Given the description of an element on the screen output the (x, y) to click on. 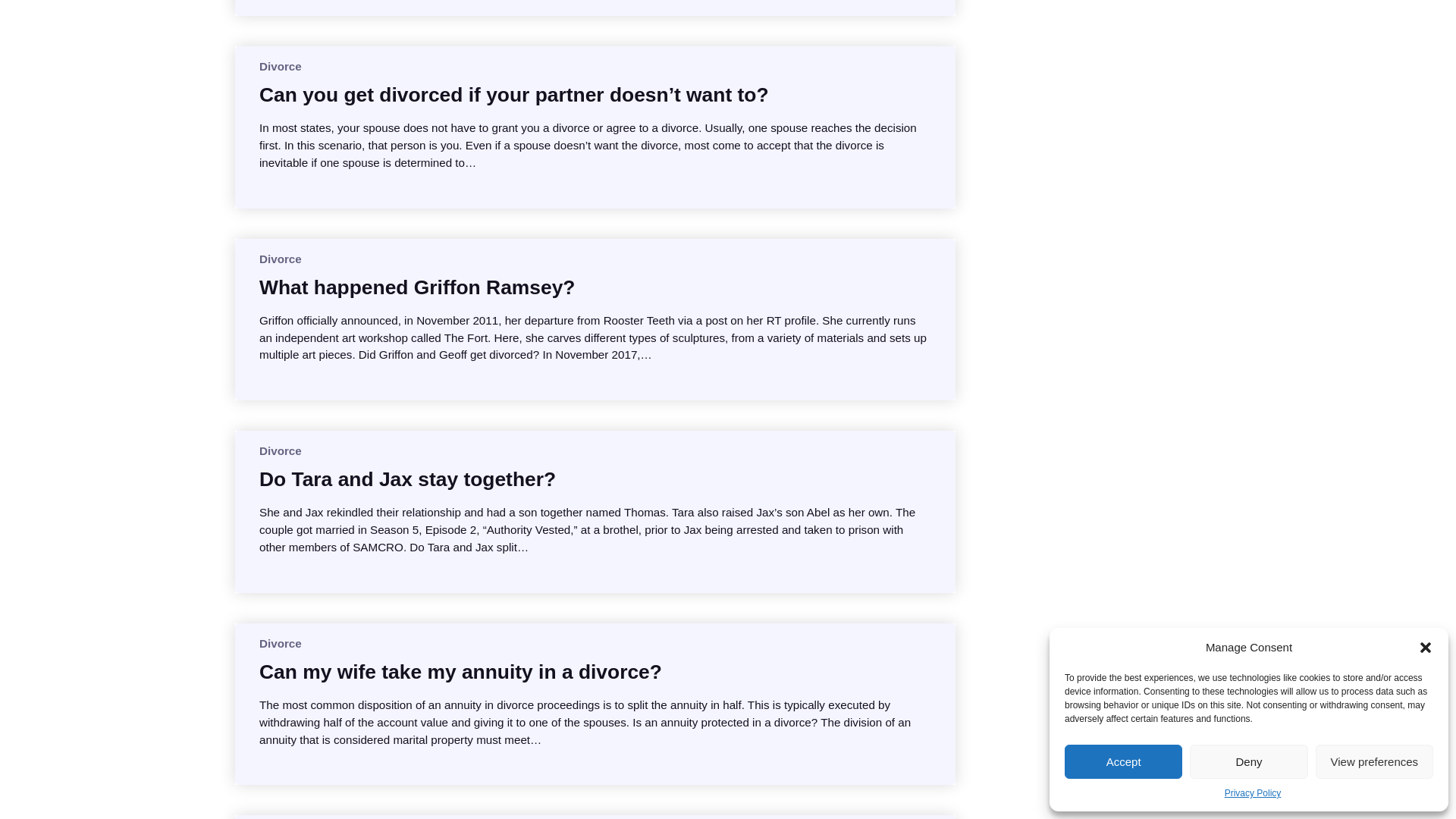
What happened Griffon Ramsey? (417, 287)
Divorce (280, 65)
Divorce (280, 450)
Can my wife take my annuity in a divorce? (460, 671)
Divorce (280, 643)
Do Tara and Jax stay together? (407, 479)
Divorce (280, 258)
